Given the description of an element on the screen output the (x, y) to click on. 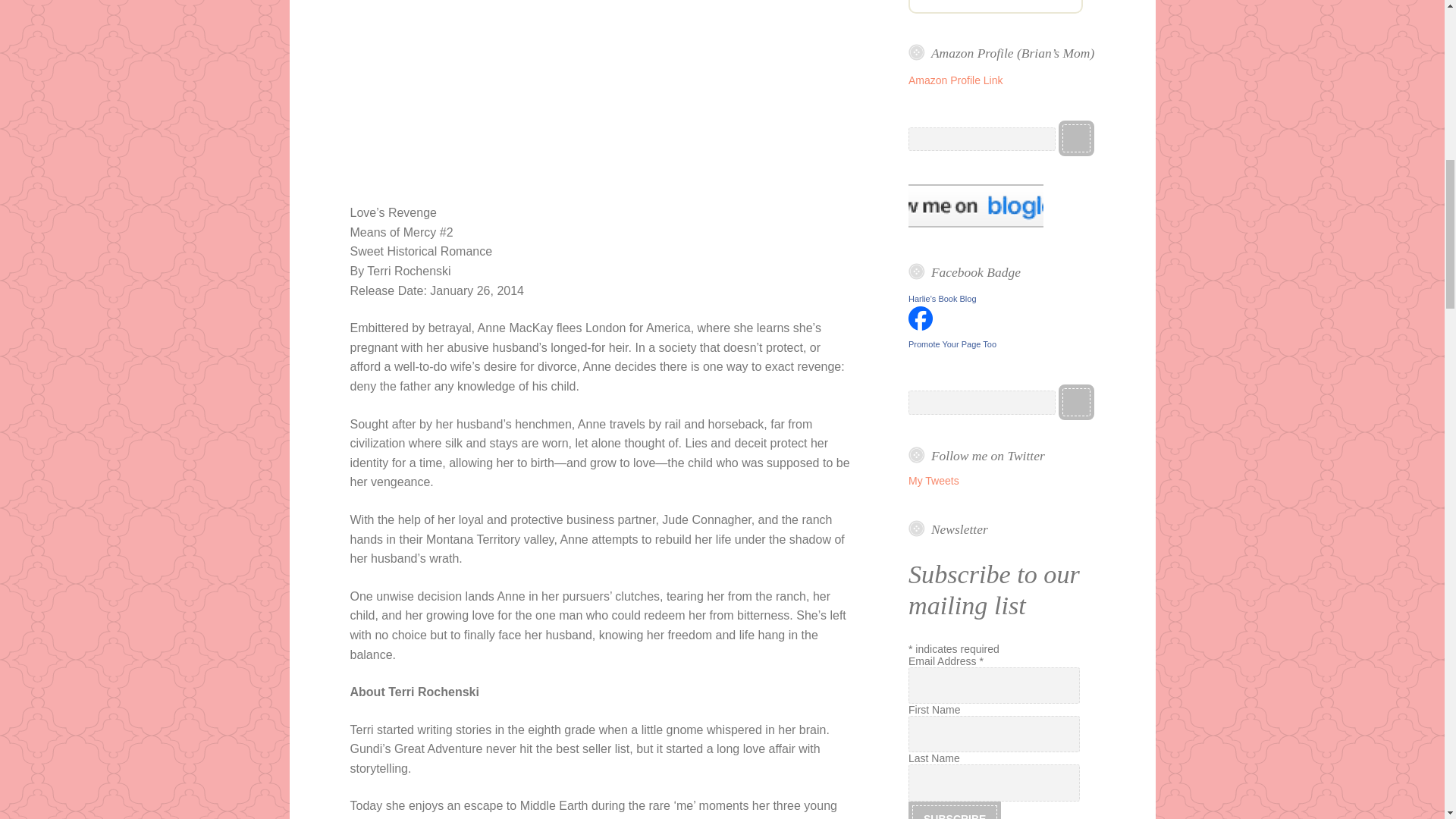
Harlie's Book Blog (942, 298)
Make your own badge! (951, 343)
Subscribe (954, 812)
Harlie's Book Blog (920, 326)
Follow Harlie's Books on Bloglovin (975, 223)
